Given the description of an element on the screen output the (x, y) to click on. 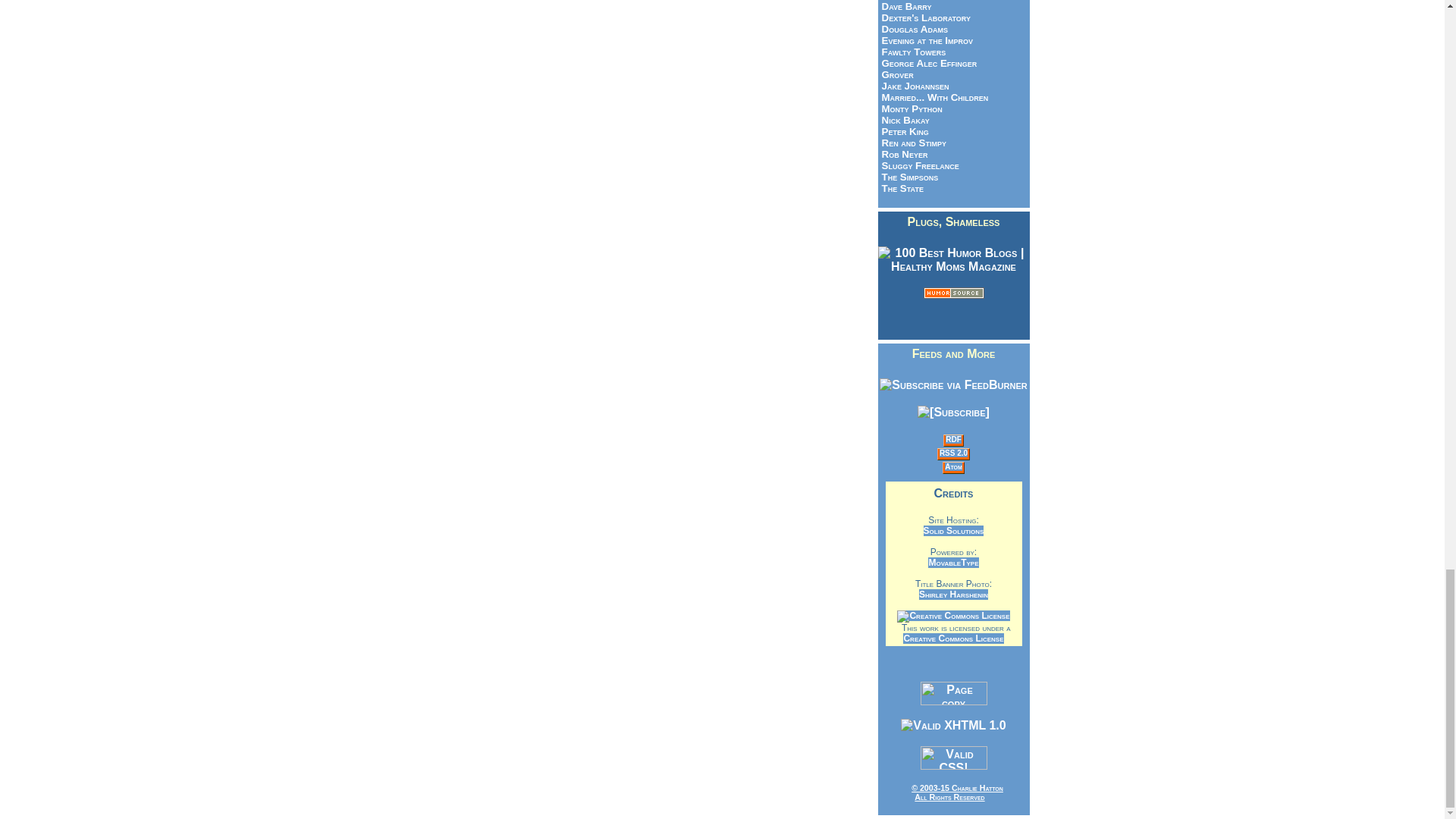
RSS 2.0 (953, 452)
Atom (953, 466)
Subscribe to my feed (952, 384)
RSD (952, 438)
